Given the description of an element on the screen output the (x, y) to click on. 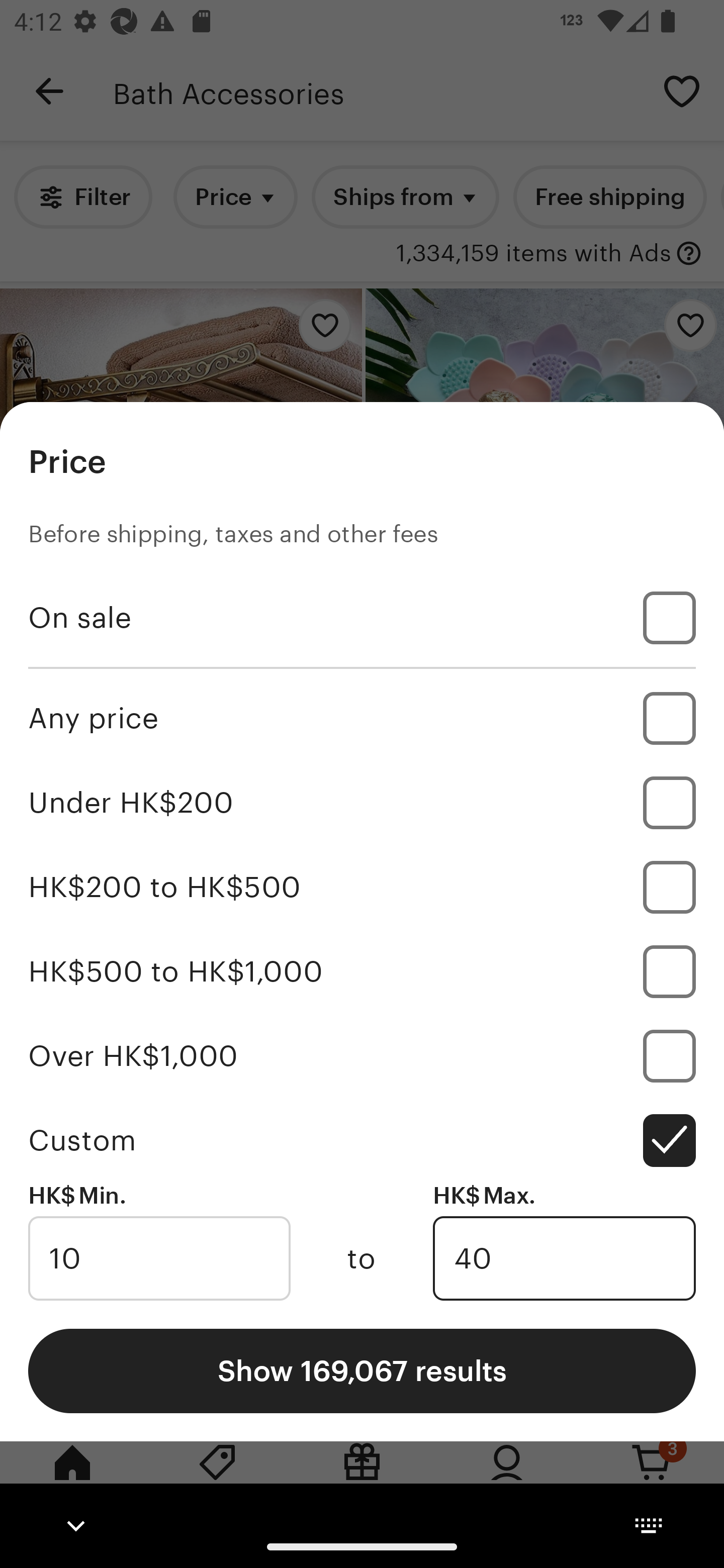
On sale (362, 617)
Any price (362, 717)
Under HK$200 (362, 802)
HK$200 to HK$500 (362, 887)
HK$500 to HK$1,000 (362, 970)
Over HK$1,000 (362, 1054)
Custom (362, 1139)
10 (159, 1257)
40 (563, 1257)
Show 169,067 results (361, 1370)
